Given the description of an element on the screen output the (x, y) to click on. 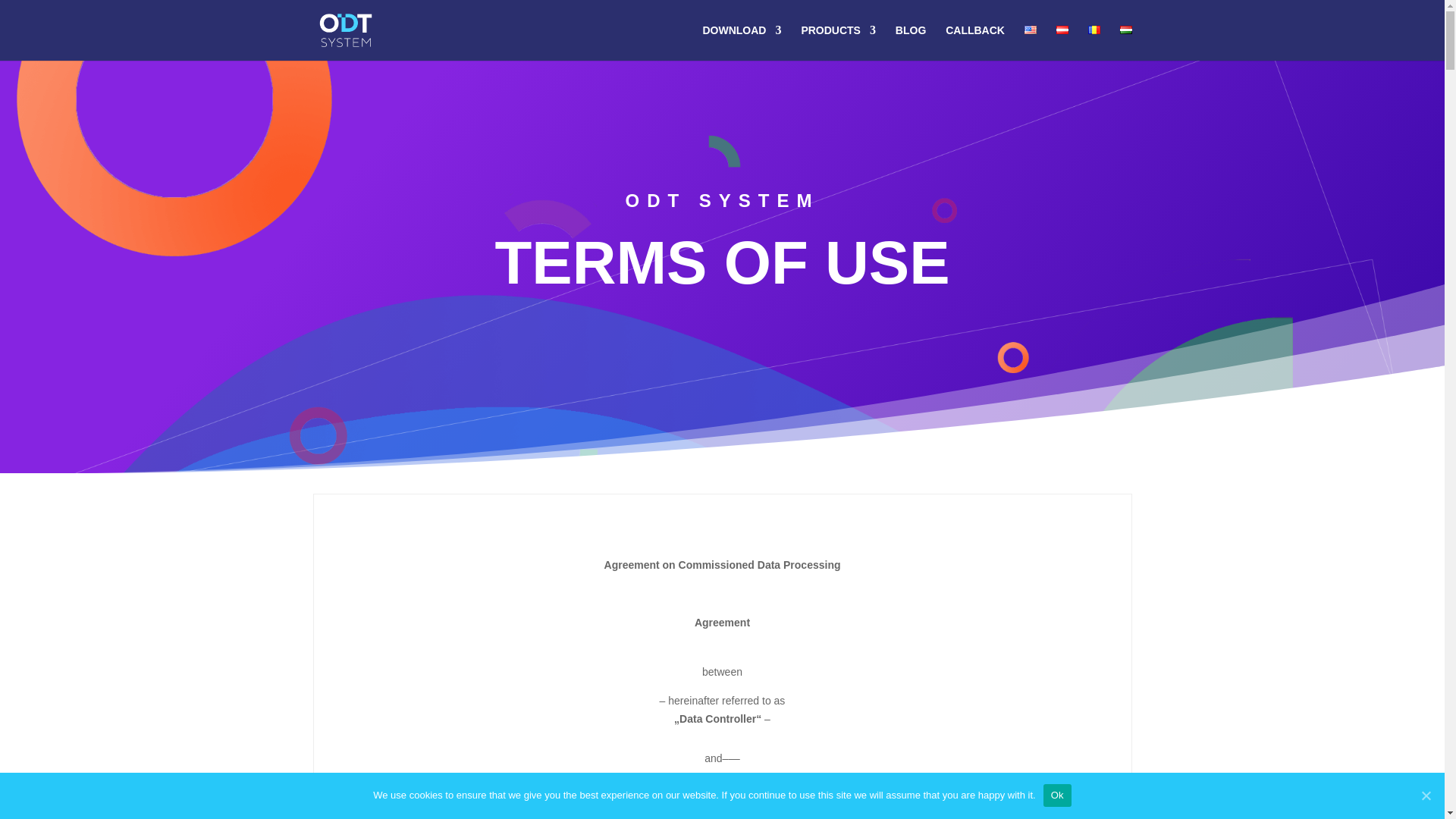
RO (1093, 29)
DOWNLOAD (740, 42)
EN (1030, 29)
PRODUCTS (838, 42)
CALLBACK (974, 42)
DE (1062, 29)
HU (1125, 29)
